Given the description of an element on the screen output the (x, y) to click on. 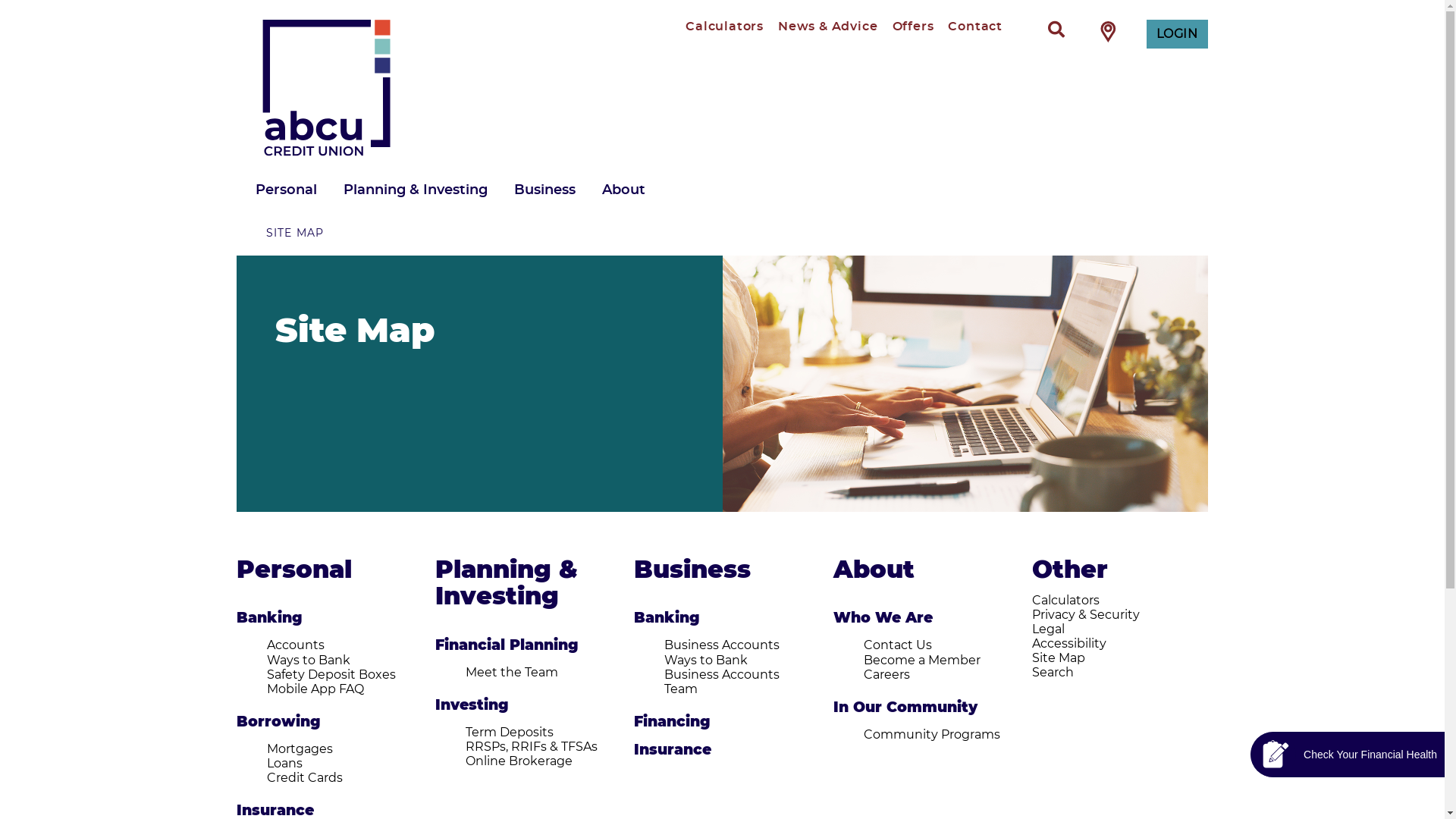
Meet the Team Element type: text (511, 672)
Borrowing Element type: text (278, 722)
Banking Element type: text (269, 618)
Contact Us Element type: text (897, 645)
Offers Element type: text (912, 26)
Banking Element type: text (666, 618)
RRSPs, RRIFs & TFSAs Element type: text (531, 746)
About Element type: text (873, 570)
Insurance Element type: text (274, 810)
Investing Element type: text (471, 705)
LOGIN Element type: text (1177, 33)
Become a Member Element type: text (921, 660)
Loans Element type: text (284, 763)
Financing Element type: text (671, 722)
Mortgages Element type: text (299, 749)
Calculators Element type: text (724, 26)
Business Accounts Element type: text (721, 645)
Accounts Element type: text (295, 645)
In Our Community Element type: text (905, 707)
Business Element type: text (691, 570)
News & Advice Element type: text (827, 26)
Personal Element type: text (293, 570)
Legal Element type: text (1048, 629)
Term Deposits Element type: text (509, 732)
Ways to Bank Element type: text (705, 660)
Safety Deposit Boxes Element type: text (330, 674)
Privacy & Security Element type: text (1085, 614)
Community Programs Element type: text (931, 734)
Ways to Bank Element type: text (308, 660)
Site Map Element type: text (1058, 658)
Mobile App FAQ Element type: text (315, 689)
Contact Element type: text (974, 26)
Financial Planning Element type: text (506, 645)
Calculators Element type: text (1065, 600)
Business Accounts Team Element type: text (721, 681)
Who We Are Element type: text (882, 618)
Credit Cards Element type: text (304, 777)
Find Branch / ATM Element type: hover (1107, 31)
Planning & Investing Element type: text (506, 583)
Careers Element type: text (886, 674)
Accessibility Element type: text (1069, 643)
Online Brokerage Element type: text (518, 761)
